Given the description of an element on the screen output the (x, y) to click on. 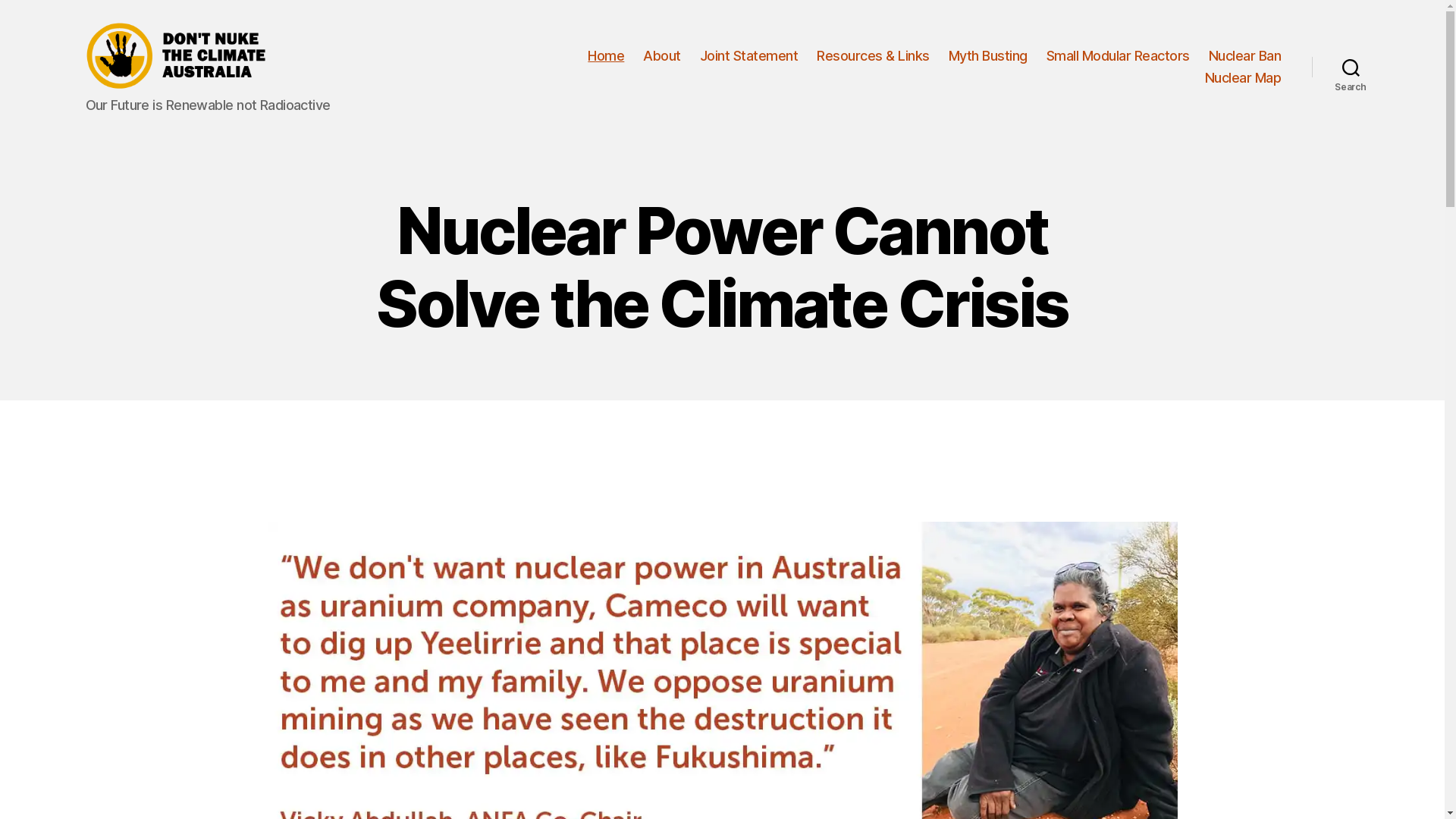
Small Modular Reactors Element type: text (1117, 55)
Nuclear Map Element type: text (1242, 77)
Resources & Links Element type: text (872, 55)
Search Element type: text (1350, 66)
Nuclear Ban Element type: text (1244, 55)
About Element type: text (661, 55)
Joint Statement Element type: text (748, 55)
Home Element type: text (605, 55)
Myth Busting Element type: text (987, 55)
